Given the description of an element on the screen output the (x, y) to click on. 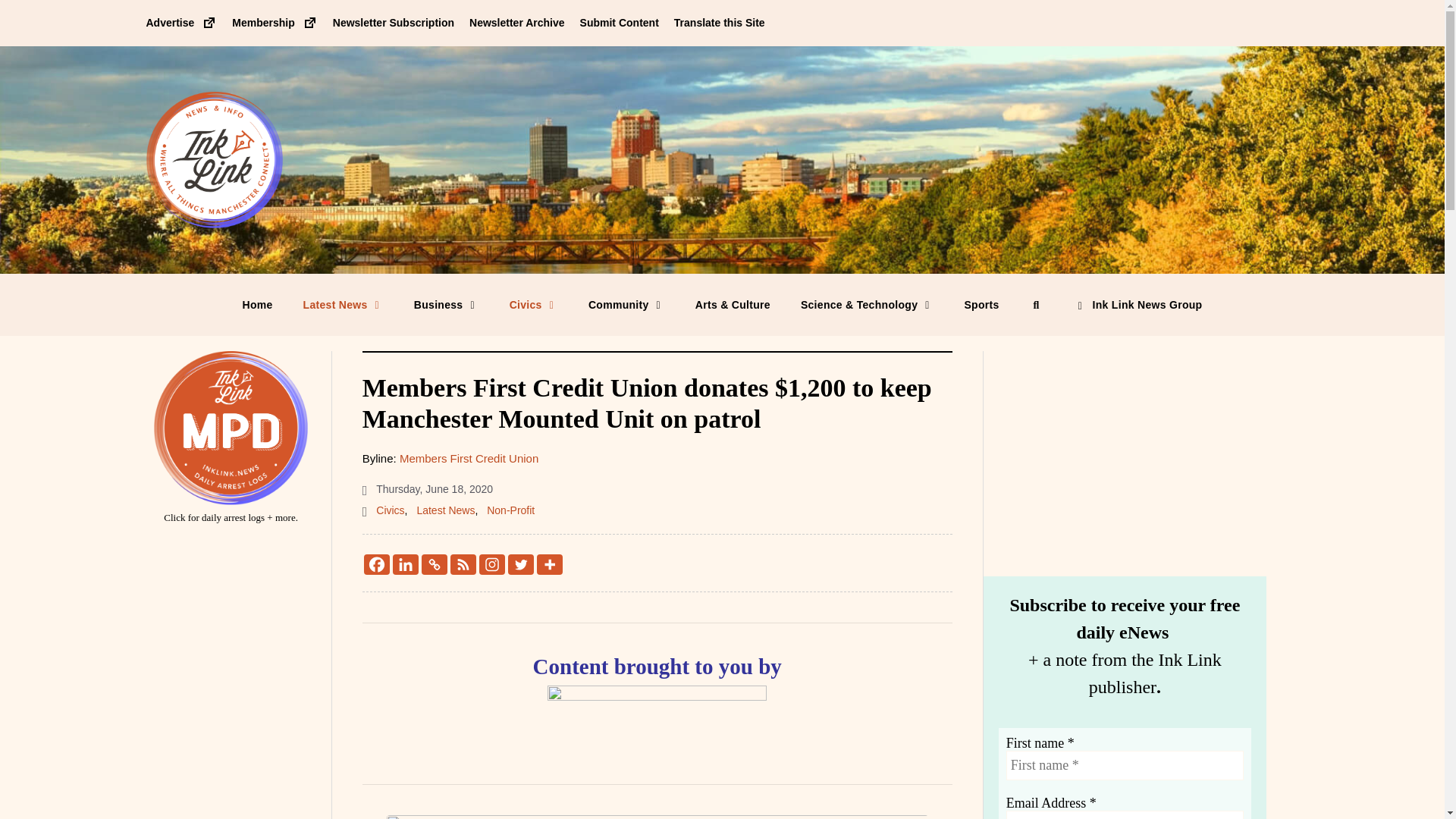
Latest News (343, 304)
Email Address (1124, 814)
First name (1124, 765)
Newsletter Archive (516, 22)
Translate this Site (719, 22)
Sports (981, 304)
Advertise (180, 22)
Civics (389, 510)
Linkedin (406, 564)
Facebook (377, 564)
Copy Link (434, 564)
Community (626, 304)
Business (446, 304)
Members First Credit Union (468, 458)
Newsletter Subscription (393, 22)
